Given the description of an element on the screen output the (x, y) to click on. 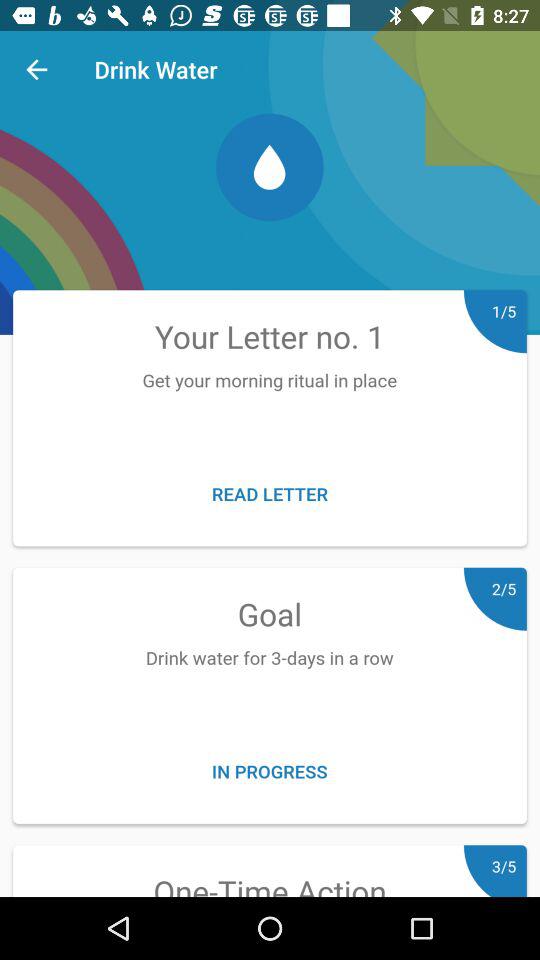
click icon below get your morning item (269, 493)
